Given the description of an element on the screen output the (x, y) to click on. 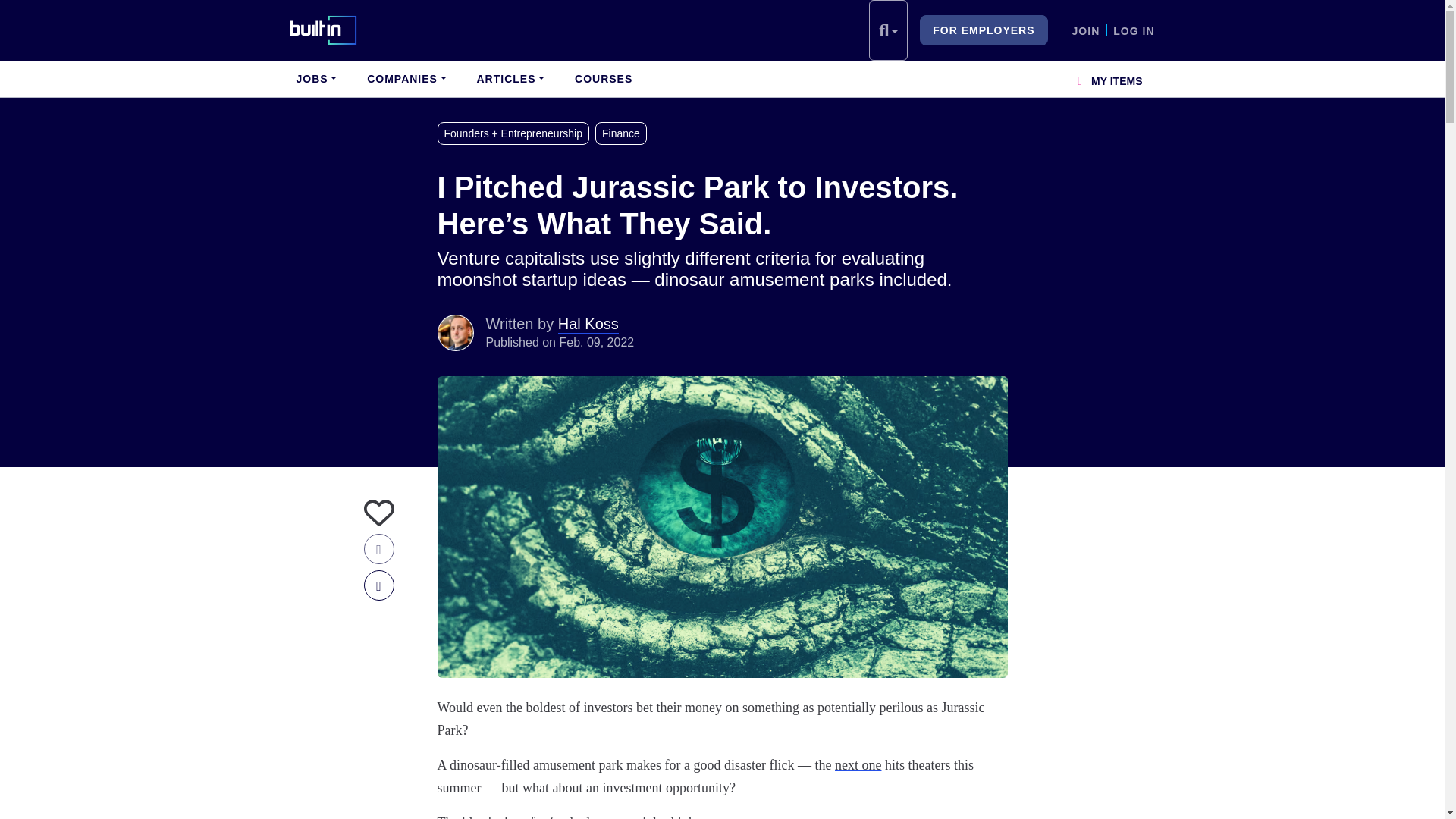
Hal Koss (455, 332)
JOIN (1085, 30)
JOBS (315, 78)
Finance (623, 133)
LOG IN (1133, 30)
FOR EMPLOYERS (983, 30)
COMPANIES (406, 78)
ARTICLES (510, 78)
